Given the description of an element on the screen output the (x, y) to click on. 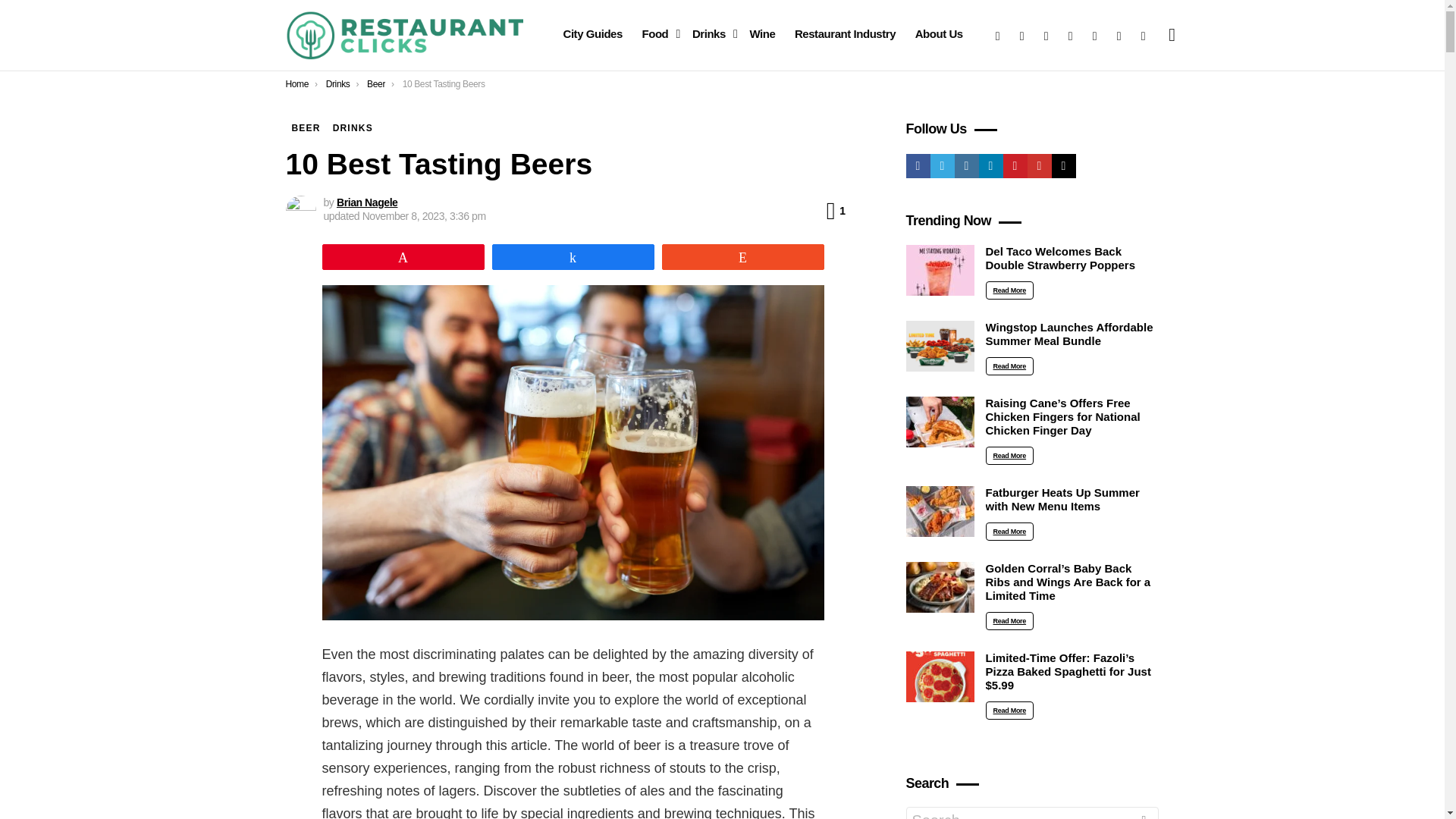
instagram (1045, 34)
Wine (762, 33)
About Us (939, 33)
Food (656, 33)
City Guides (591, 33)
Restaurant Industry (844, 33)
pinterest (1094, 34)
linkedin (1070, 34)
Drinks (338, 83)
BEER (305, 127)
Home (296, 83)
Posts by Brian Nagele (366, 202)
DRINKS (352, 127)
Brian Nagele (366, 202)
facebook (997, 34)
